Given the description of an element on the screen output the (x, y) to click on. 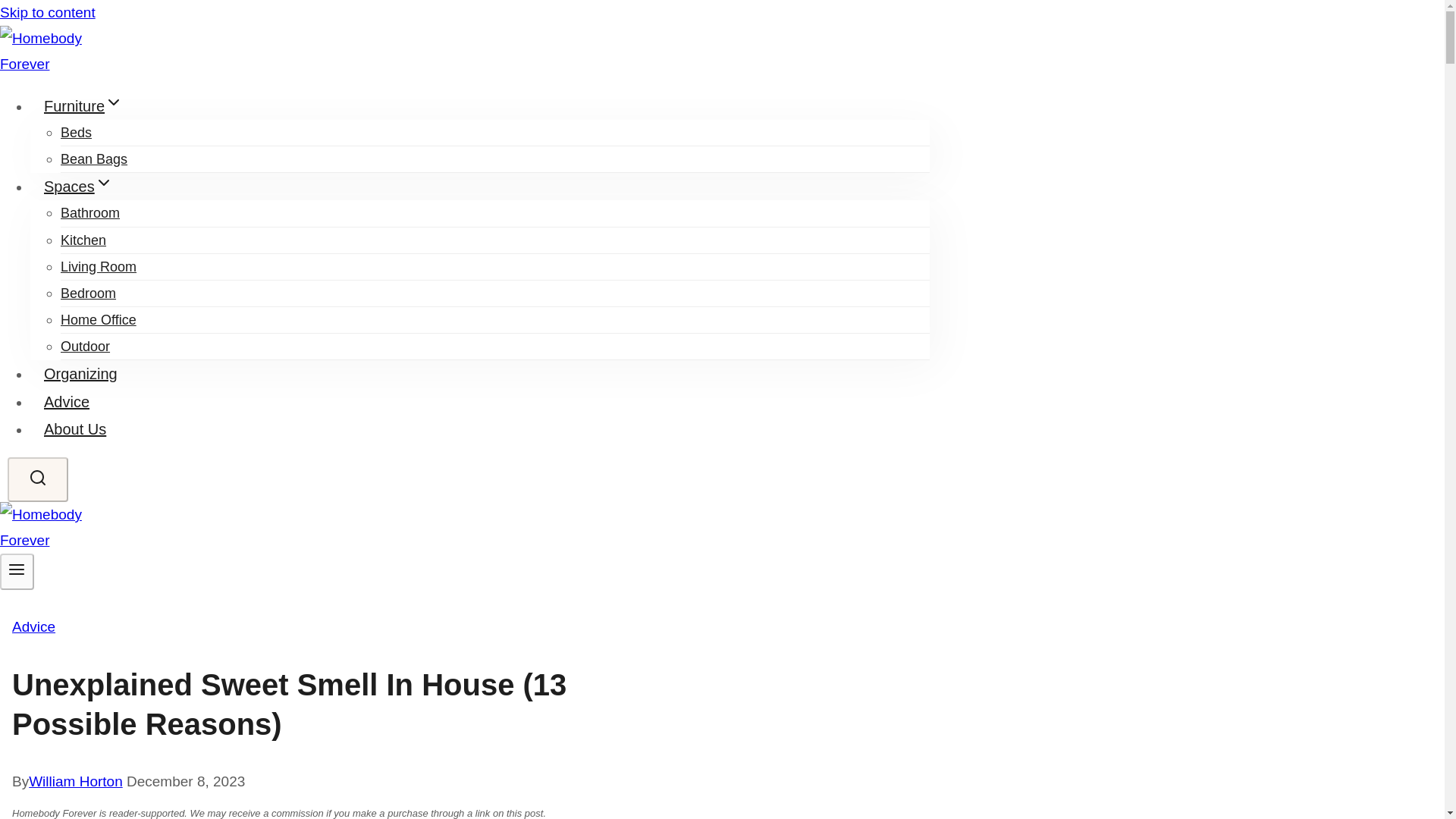
Advice (33, 626)
FurnitureExpand (83, 105)
Advice (66, 401)
Toggle Menu (16, 569)
Living Room (98, 266)
William Horton (75, 781)
Kitchen (83, 239)
SpacesExpand (78, 185)
Skip to content (48, 12)
Skip to content (48, 12)
About Us (74, 428)
Expand (103, 182)
Search (37, 479)
Organizing (80, 373)
Home Office (98, 319)
